Given the description of an element on the screen output the (x, y) to click on. 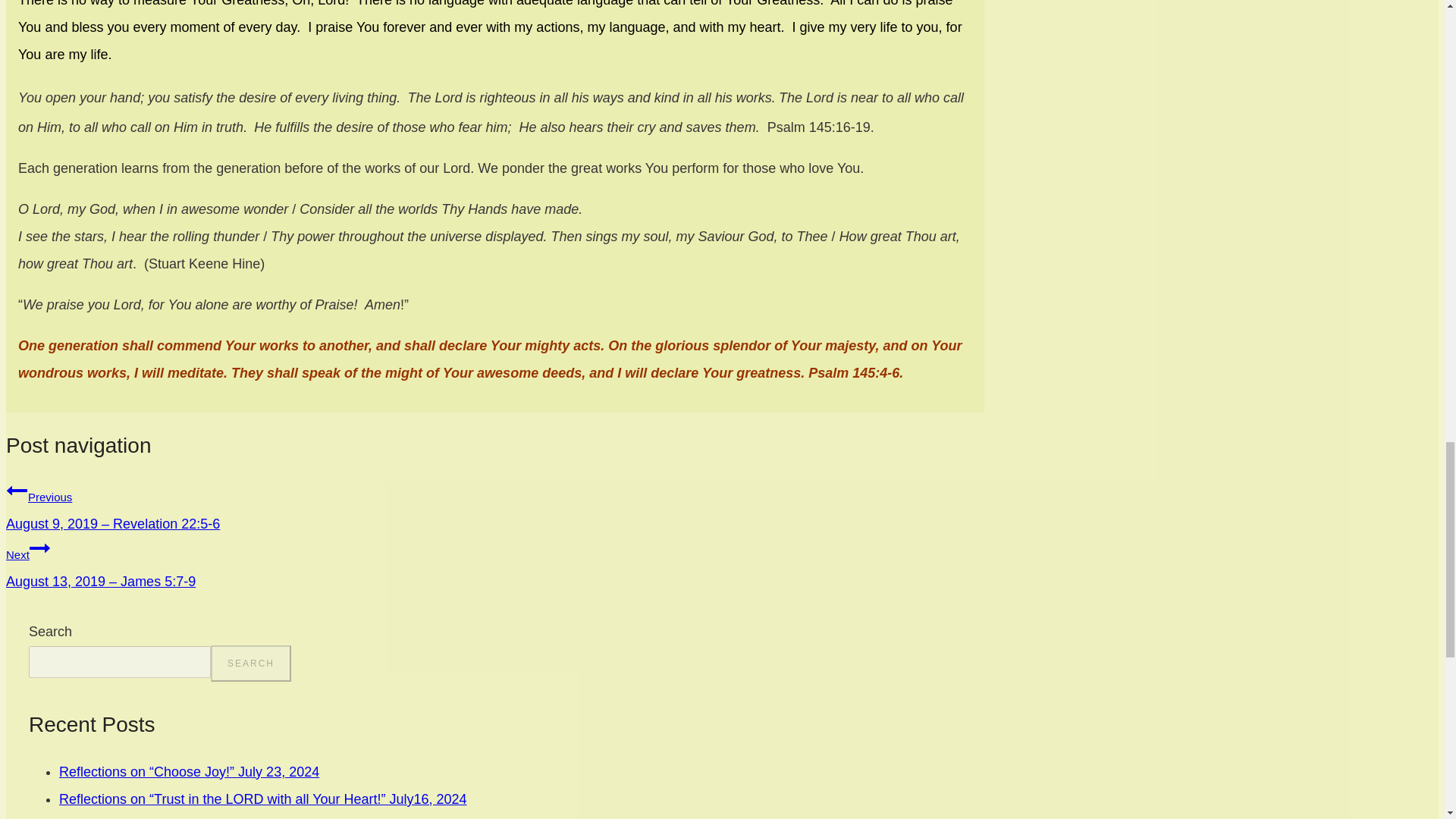
Previous (16, 490)
Continue (39, 547)
